Given the description of an element on the screen output the (x, y) to click on. 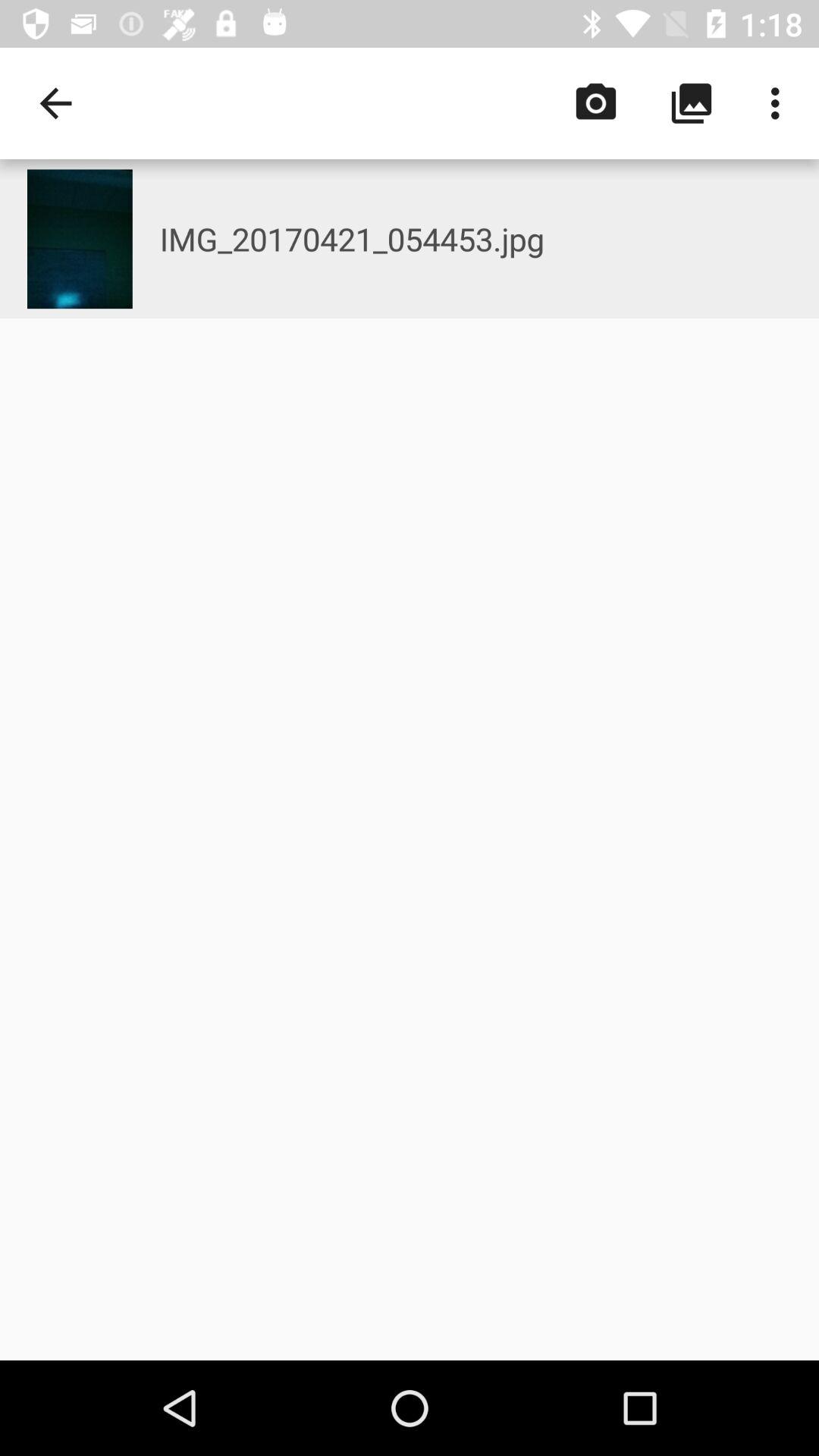
select item to the left of img_20170421_054453.jpg (55, 103)
